Given the description of an element on the screen output the (x, y) to click on. 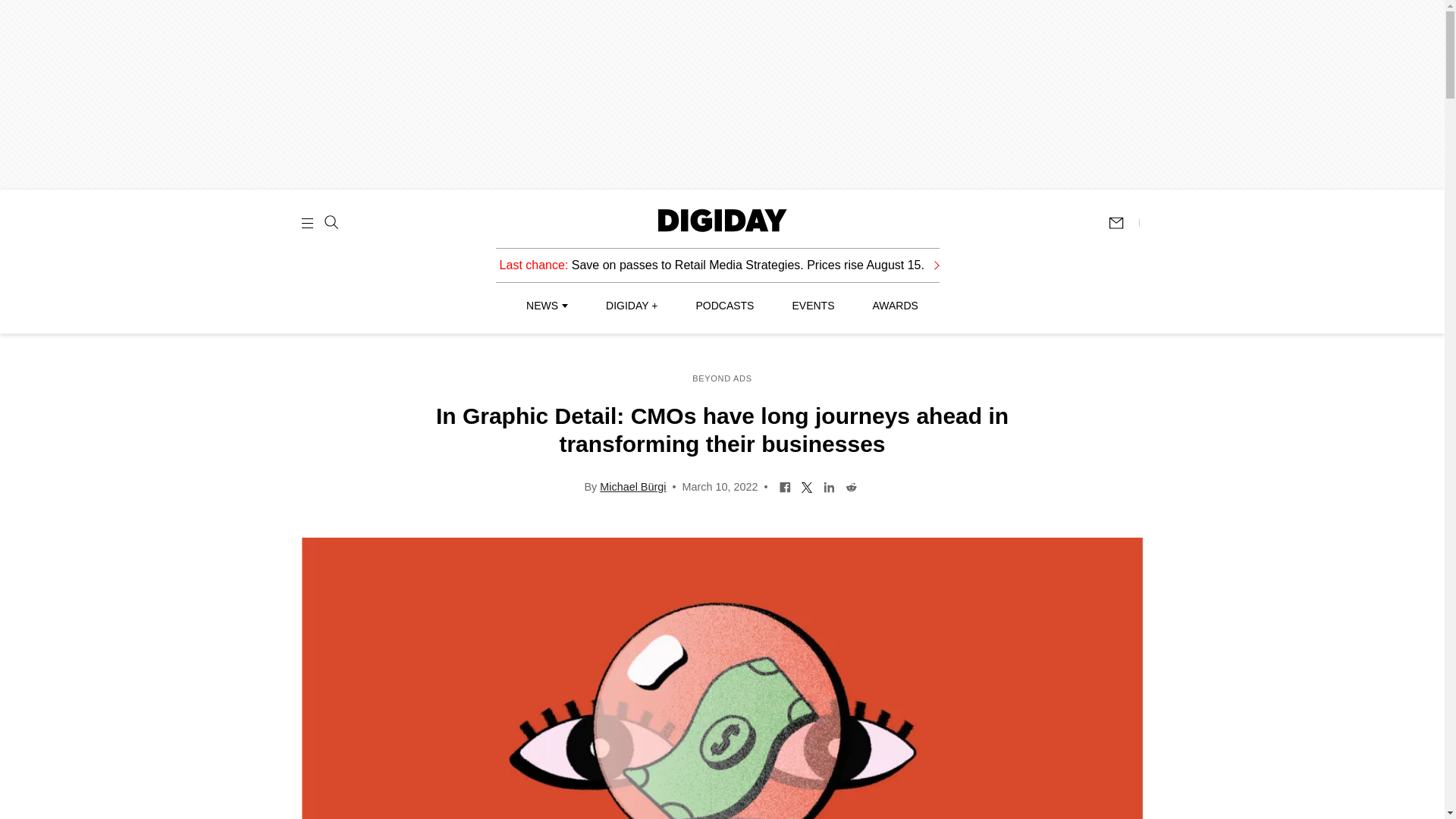
EVENTS (813, 305)
Share on Twitter (806, 485)
Share on Facebook (785, 485)
PODCASTS (725, 305)
AWARDS (894, 305)
Share on LinkedIn (828, 485)
NEWS (546, 305)
Share on Reddit (850, 485)
Subscribe (1123, 223)
